Given the description of an element on the screen output the (x, y) to click on. 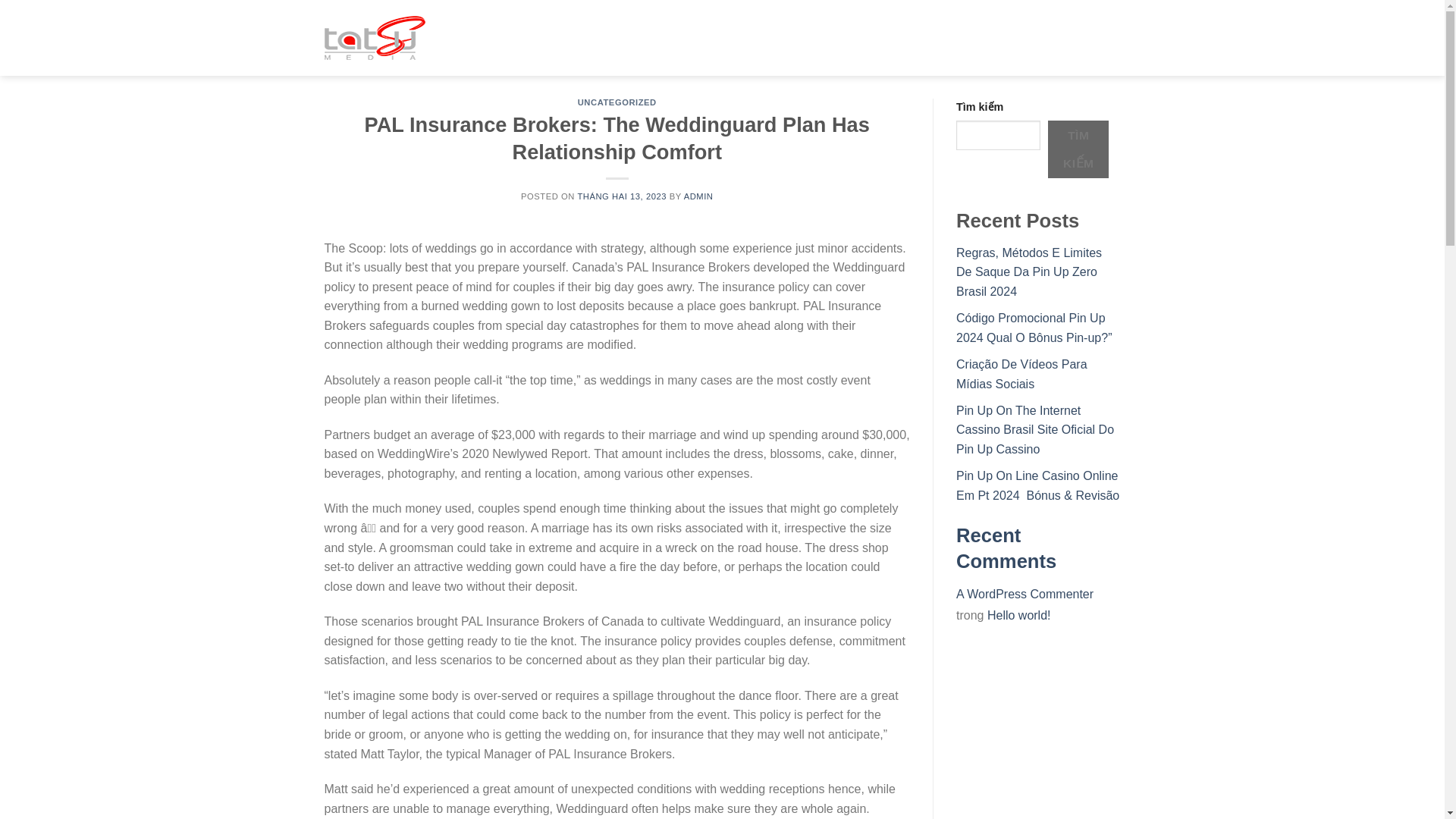
Tatsu Media - My WordPress Blog (400, 37)
ADMIN (698, 195)
A WordPress Commenter (1024, 594)
Recent Comments (1006, 547)
UNCATEGORIZED (617, 102)
